Given the description of an element on the screen output the (x, y) to click on. 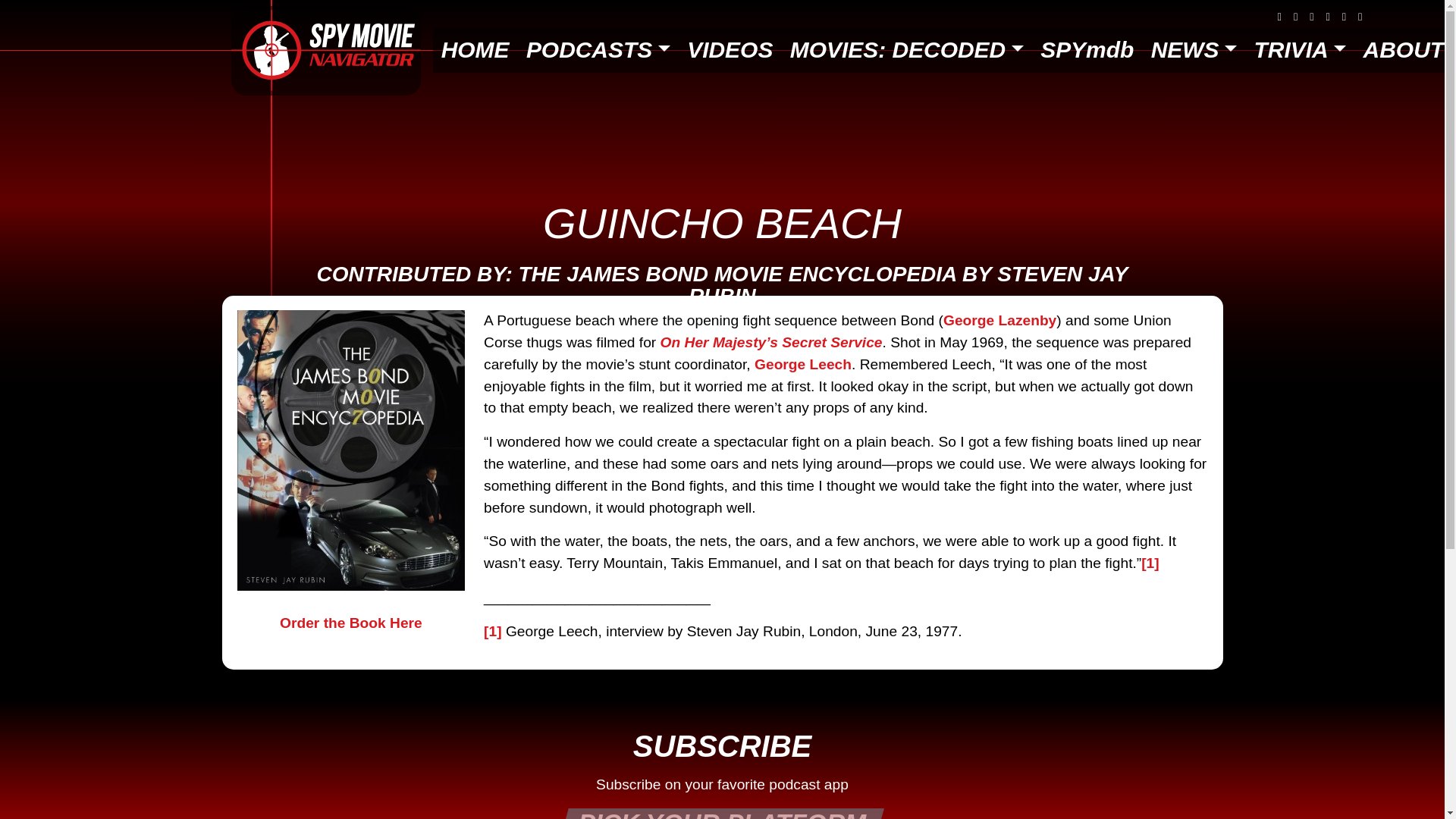
SPYmdb (1086, 50)
PODCASTS (598, 50)
VIDEOS (729, 50)
Email (1360, 17)
Facebook (1279, 17)
George Lazenby (1000, 320)
HOME (474, 50)
TRIVIA (1299, 50)
Order the Book Here (350, 472)
NEWS (1192, 50)
Twitter (1311, 17)
Pinterest (1295, 17)
YouTube (1344, 17)
Instagram (1327, 17)
MOVIES: DECODED (906, 50)
